Given the description of an element on the screen output the (x, y) to click on. 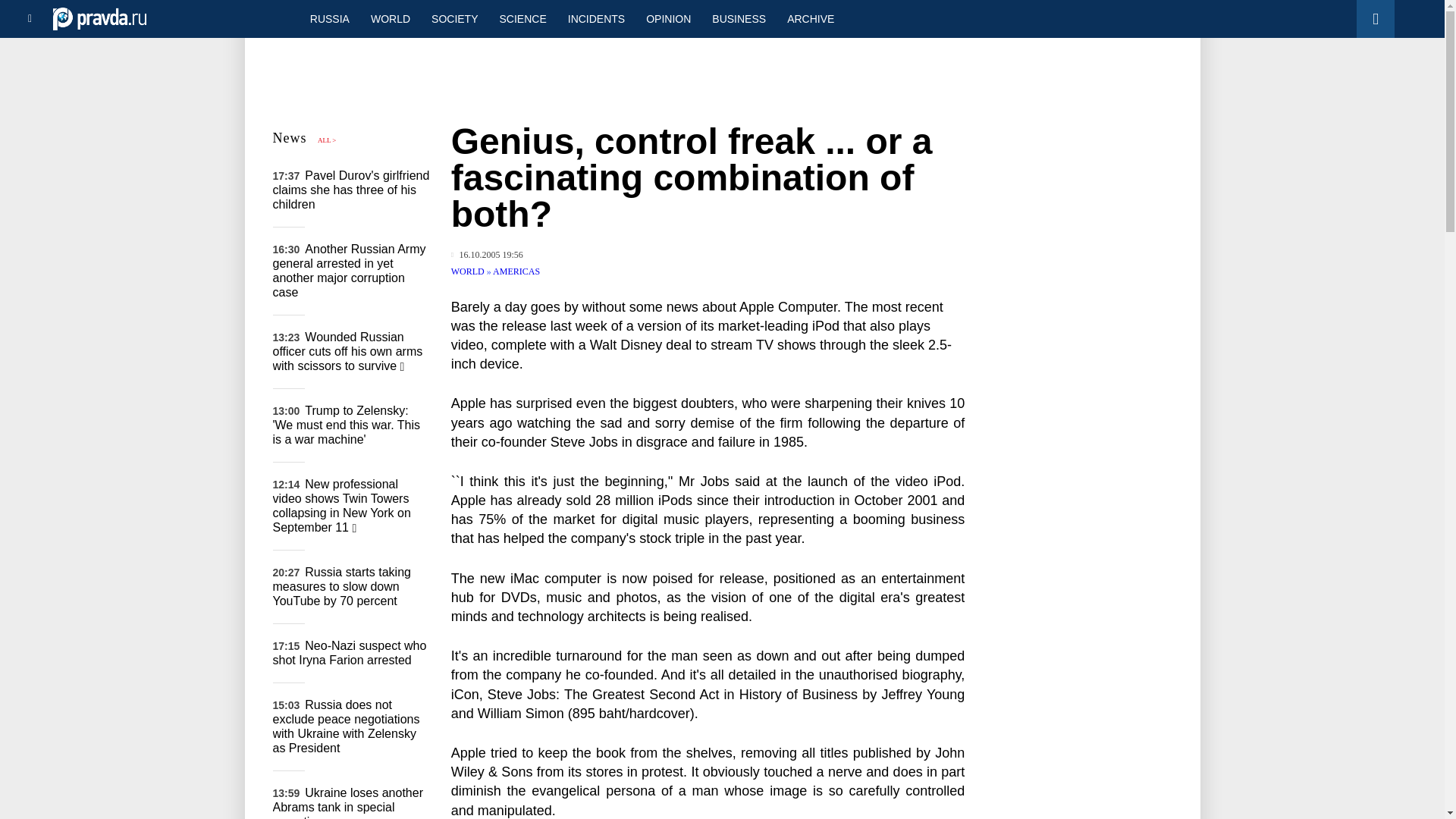
Neo-Nazi suspect who shot Iryna Farion arrested (349, 652)
Ukraine loses another Abrams tank in special operation zone (348, 802)
News (290, 137)
Published (486, 255)
OPINION (667, 18)
WORLD (468, 271)
SCIENCE (523, 18)
SOCIETY (453, 18)
INCIDENTS (595, 18)
WORLD (389, 18)
AMERICAS (516, 271)
